Given the description of an element on the screen output the (x, y) to click on. 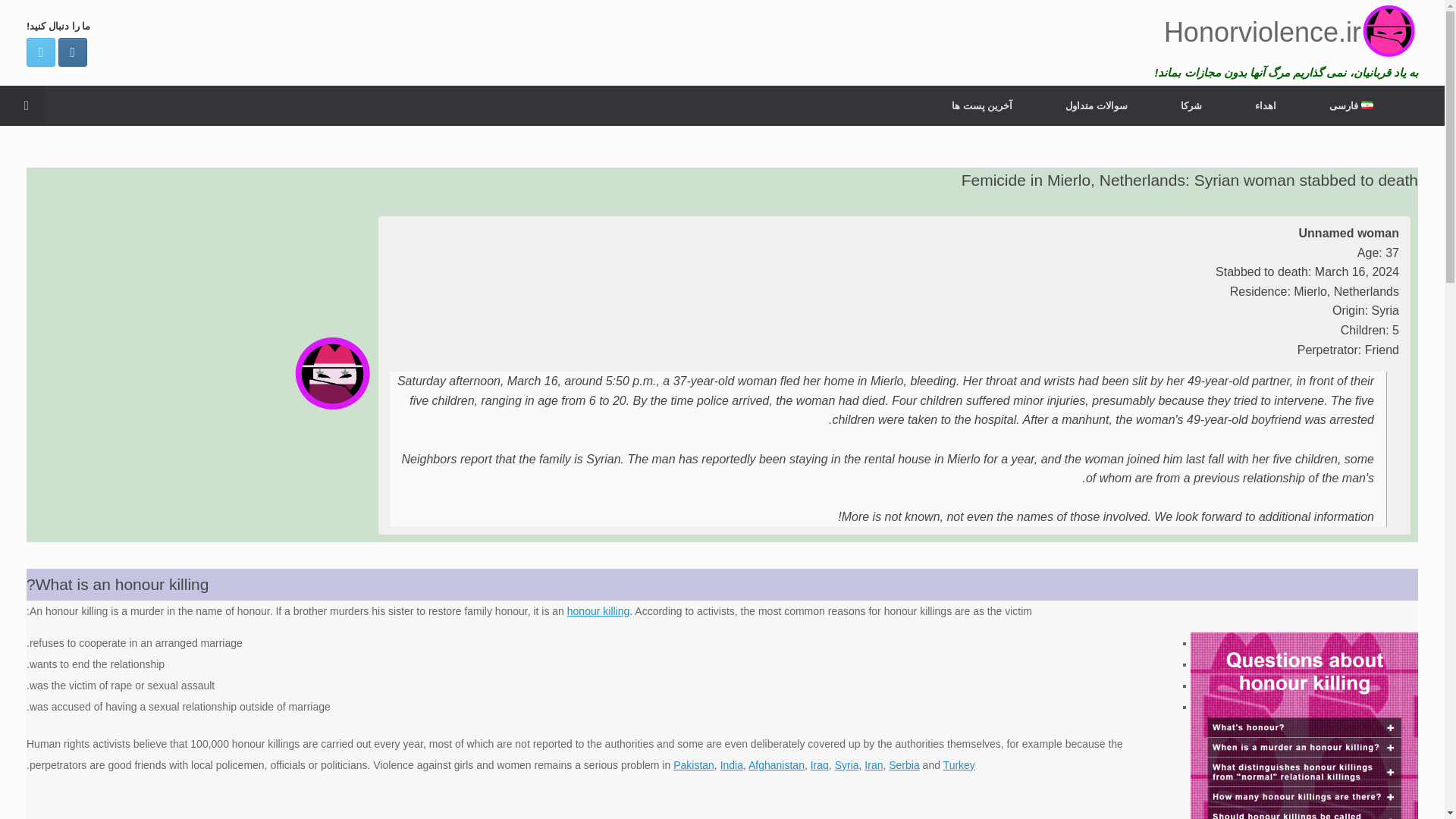
Honorviolence.ir (1283, 32)
Honorviolence.ir (1283, 32)
Honorviolence.ir Instagram (72, 51)
